Given the description of an element on the screen output the (x, y) to click on. 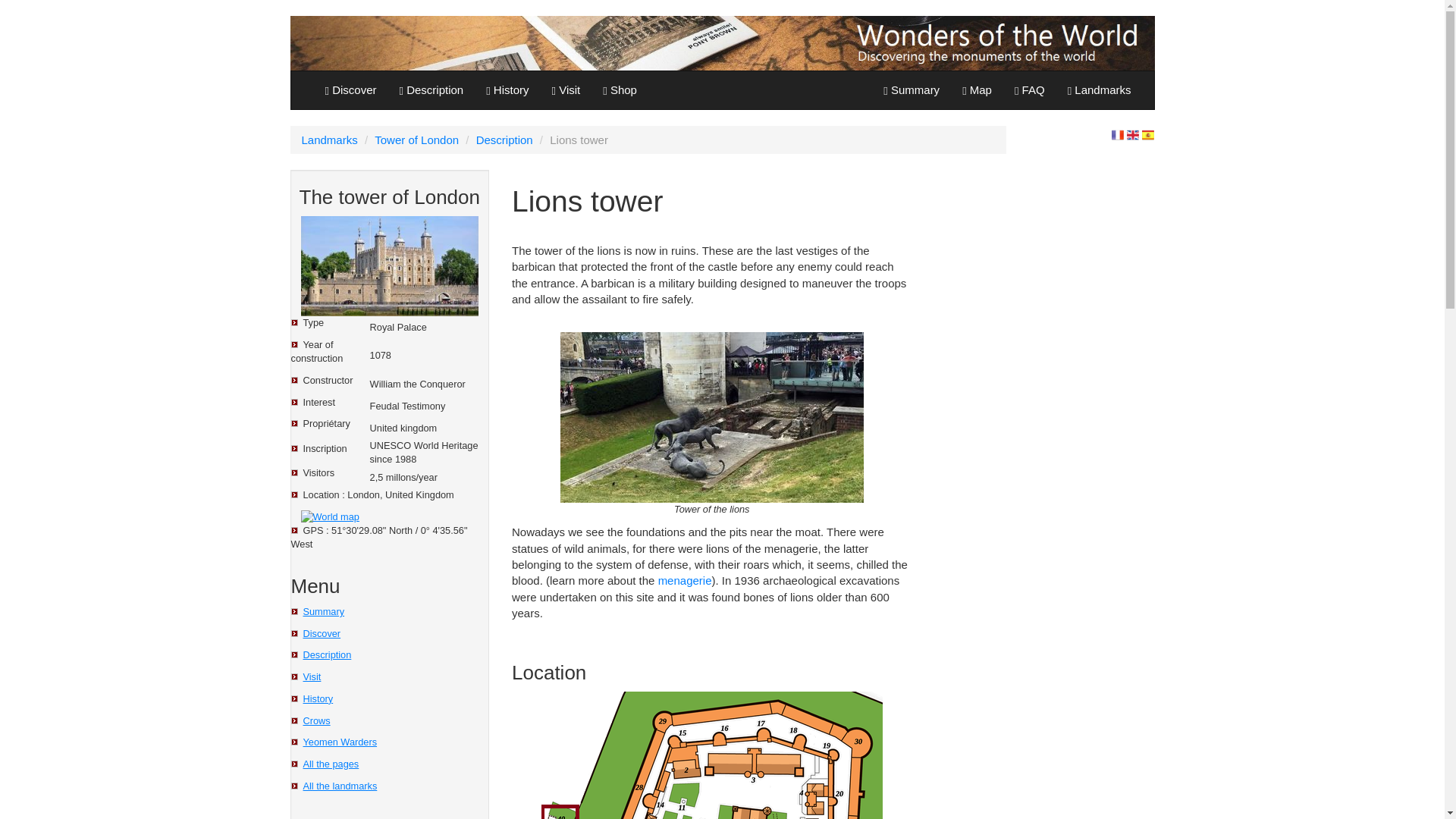
History (507, 89)
Visit (311, 676)
All the landmarks (339, 785)
Shop (619, 89)
Description (432, 89)
All the pages (330, 763)
Summary (323, 611)
Summary (911, 89)
Visit (566, 89)
Landmarks (329, 139)
Description (504, 139)
Landmarks (1099, 89)
History (317, 698)
menagerie (684, 580)
Discover (351, 89)
